Given the description of an element on the screen output the (x, y) to click on. 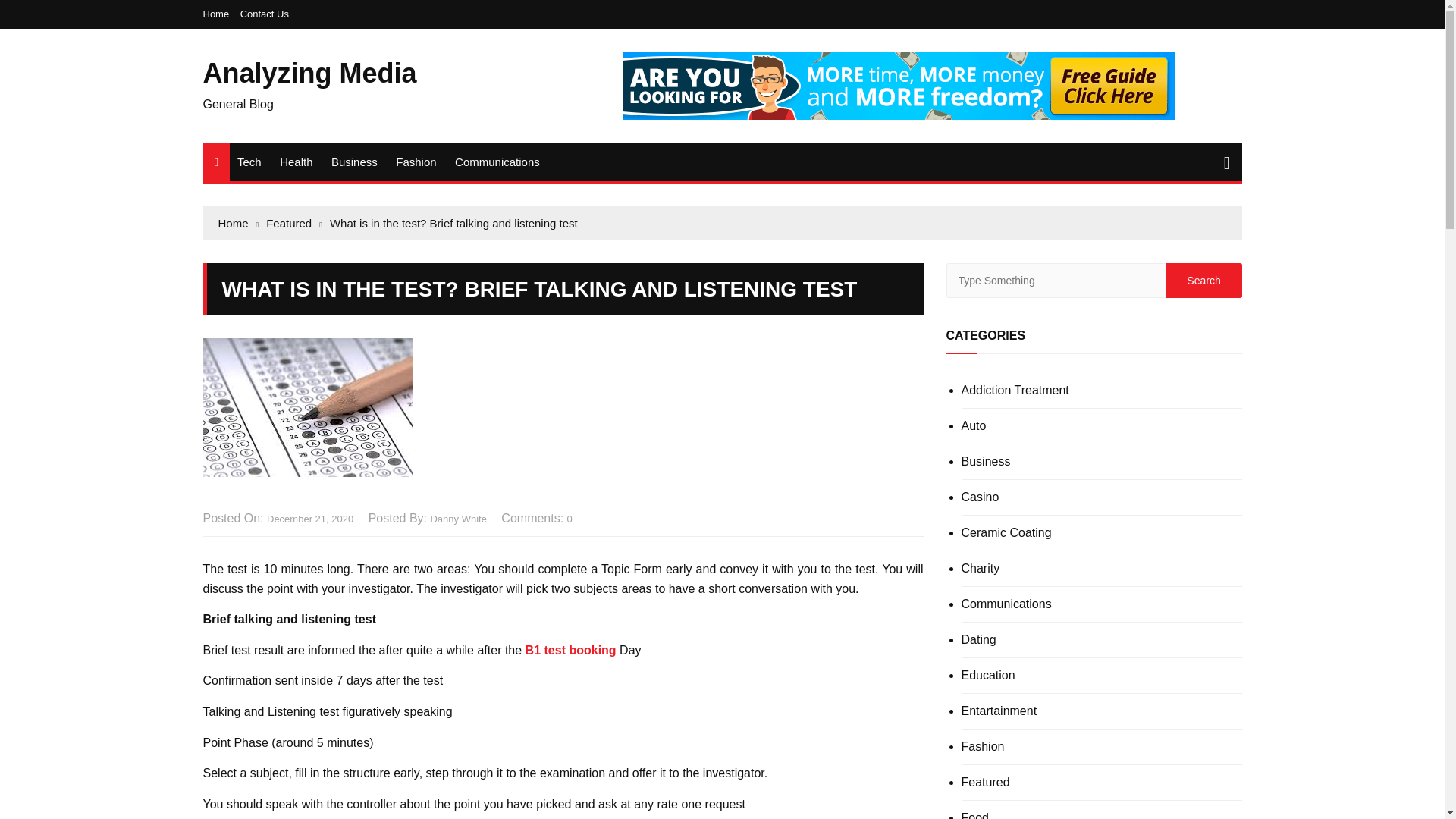
Analyzing Media (309, 72)
Business (985, 461)
Ceramic Coating (1005, 532)
Fashion (416, 161)
Featured (293, 223)
Tech (249, 161)
Auto (973, 426)
Education (987, 675)
Charity (980, 568)
Search (1203, 280)
